Given the description of an element on the screen output the (x, y) to click on. 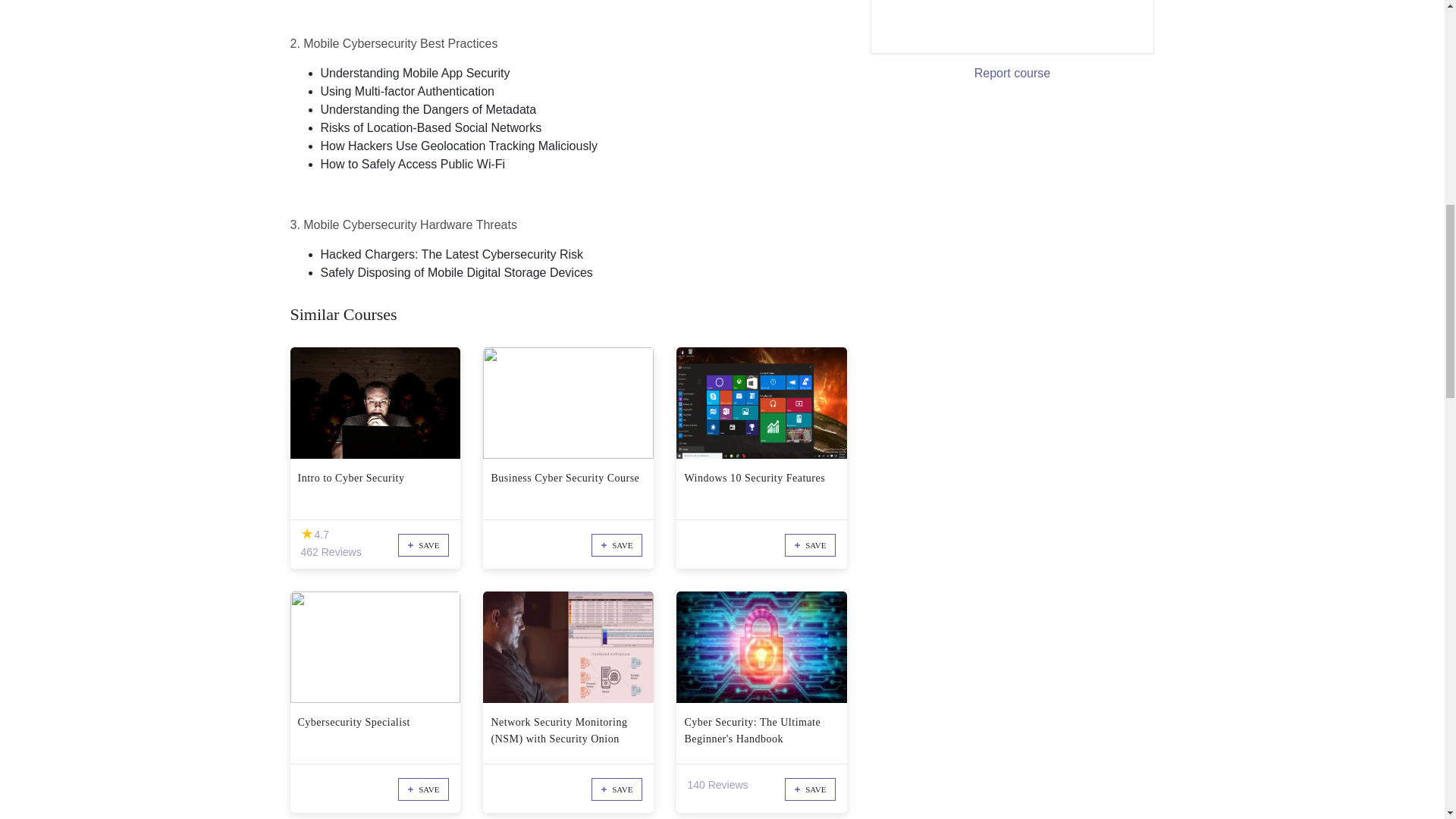
4.7 (306, 533)
Advertisement (995, 20)
